Given the description of an element on the screen output the (x, y) to click on. 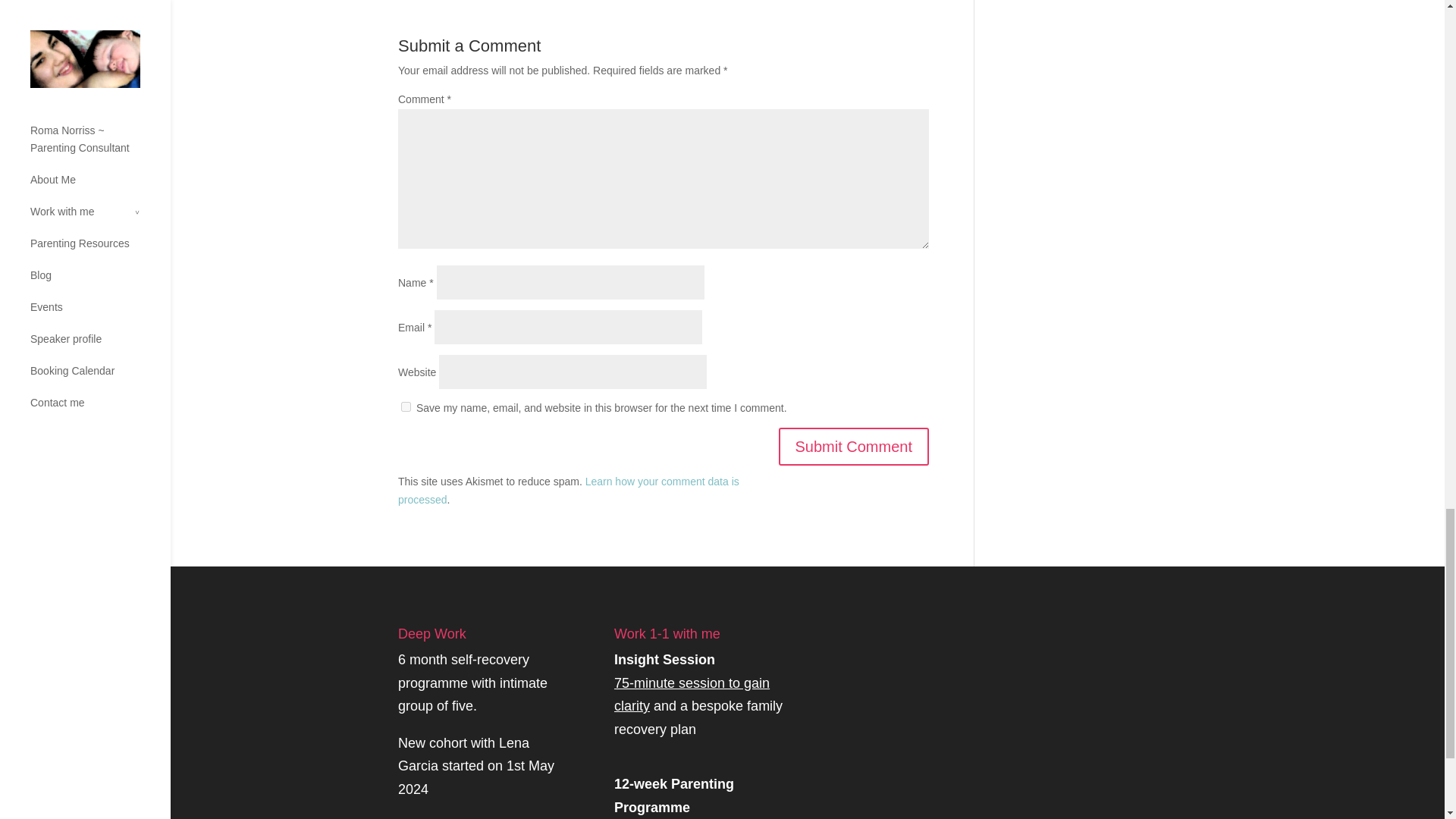
Learn how your comment data is processed (568, 490)
yes (692, 682)
6 month self-recovery programme with intimate group of five. (405, 406)
Submit Comment (472, 682)
Submit Comment (852, 446)
